Given the description of an element on the screen output the (x, y) to click on. 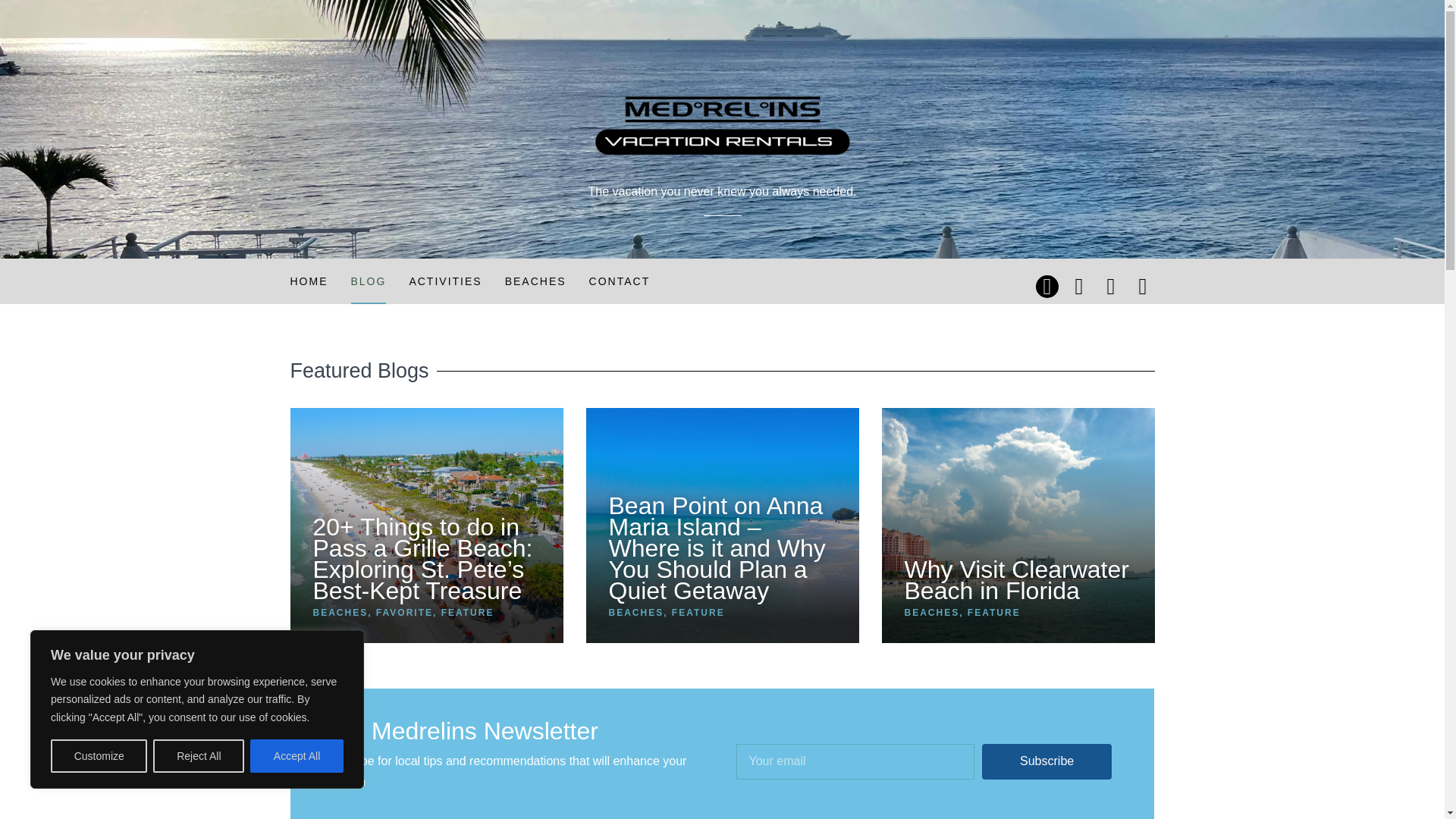
BLOG (367, 280)
Subscribe (1045, 761)
BEACHES (535, 280)
ACTIVITIES (445, 280)
Customize (98, 756)
Why Visit Clearwater Beach in Florida (1016, 580)
Accept All (296, 756)
Reject All (198, 756)
HOME (308, 280)
CONTACT (619, 280)
